Given the description of an element on the screen output the (x, y) to click on. 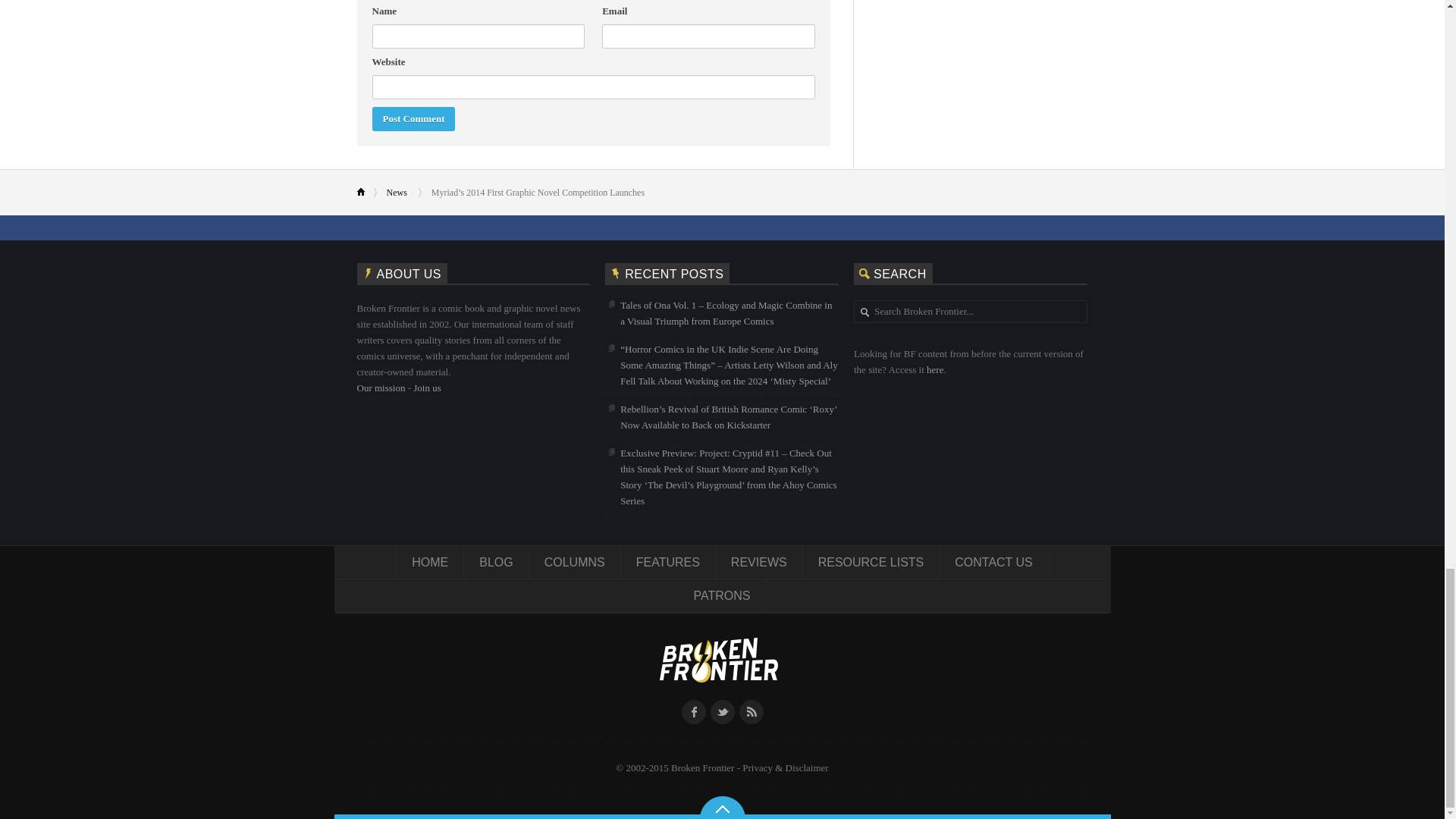
Search Broken Frontier... (978, 311)
Post Comment (412, 119)
Post Comment (412, 119)
